Given the description of an element on the screen output the (x, y) to click on. 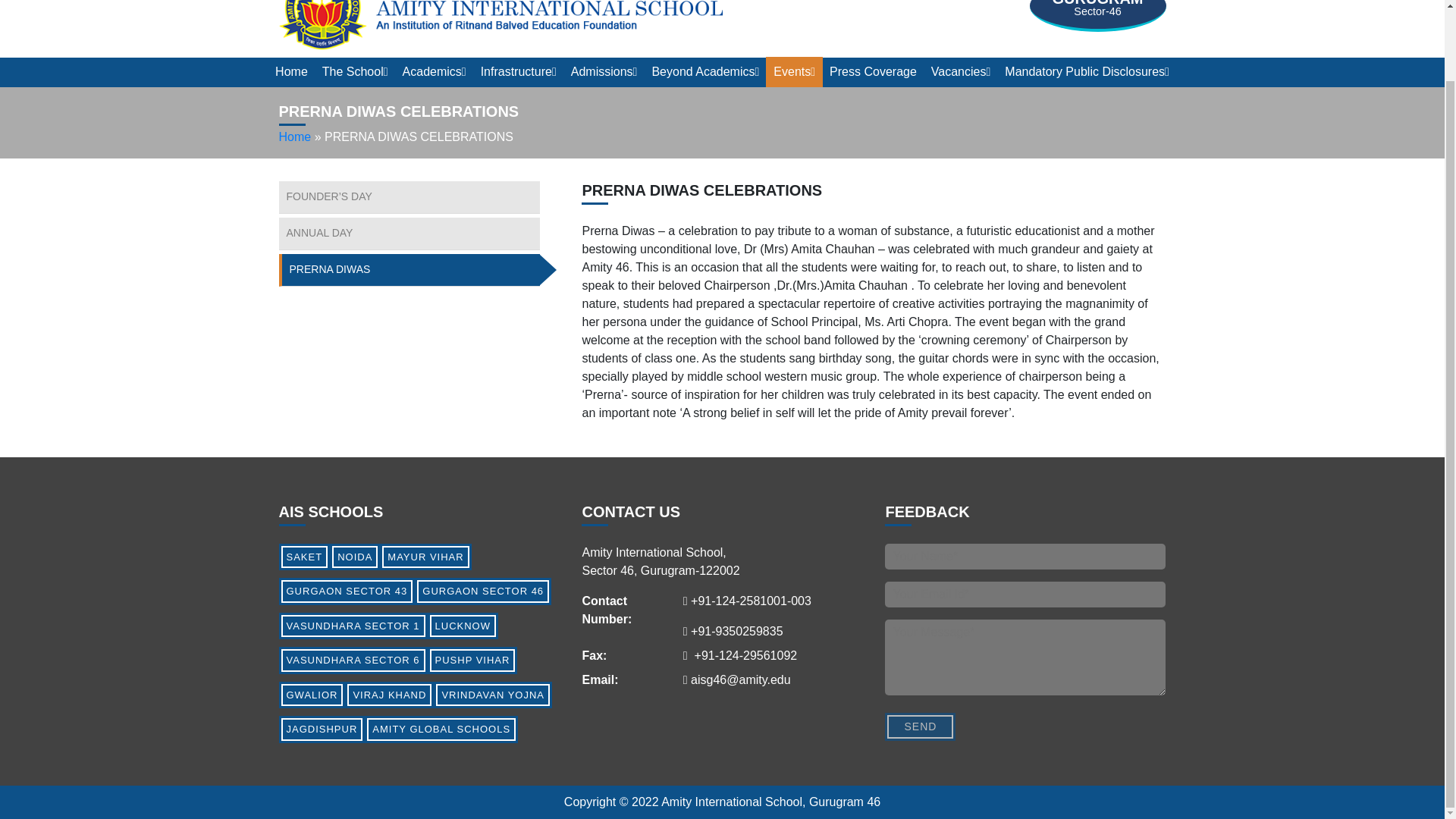
Send (920, 726)
The School (355, 71)
Academics (434, 71)
Home (291, 71)
